Given the description of an element on the screen output the (x, y) to click on. 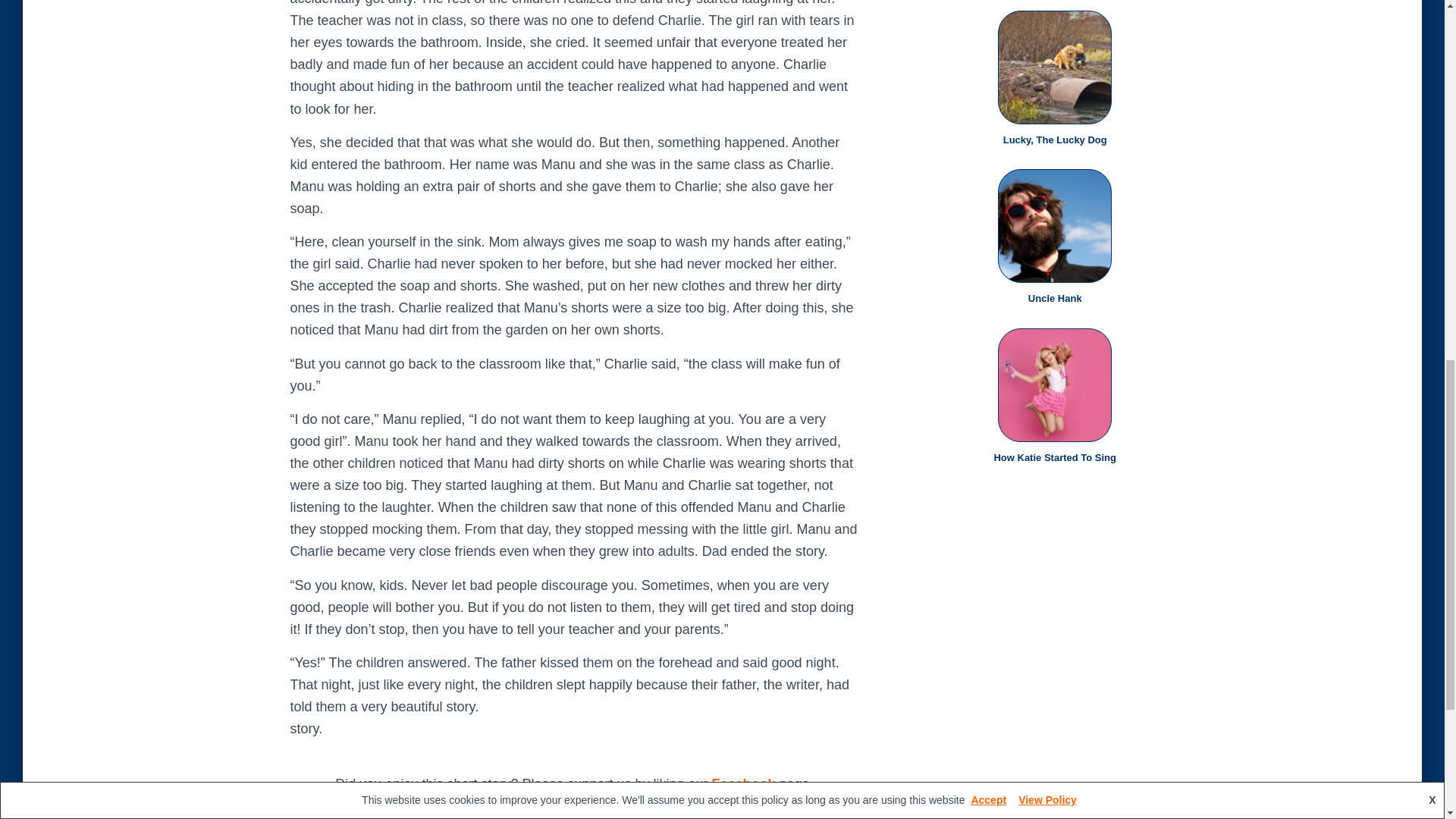
Facebook (743, 783)
Uncle Hank (1054, 297)
VIEW ALL ENGLISH SHORT STORIES (574, 816)
Lucky, The Lucky Dog (1054, 139)
